Given the description of an element on the screen output the (x, y) to click on. 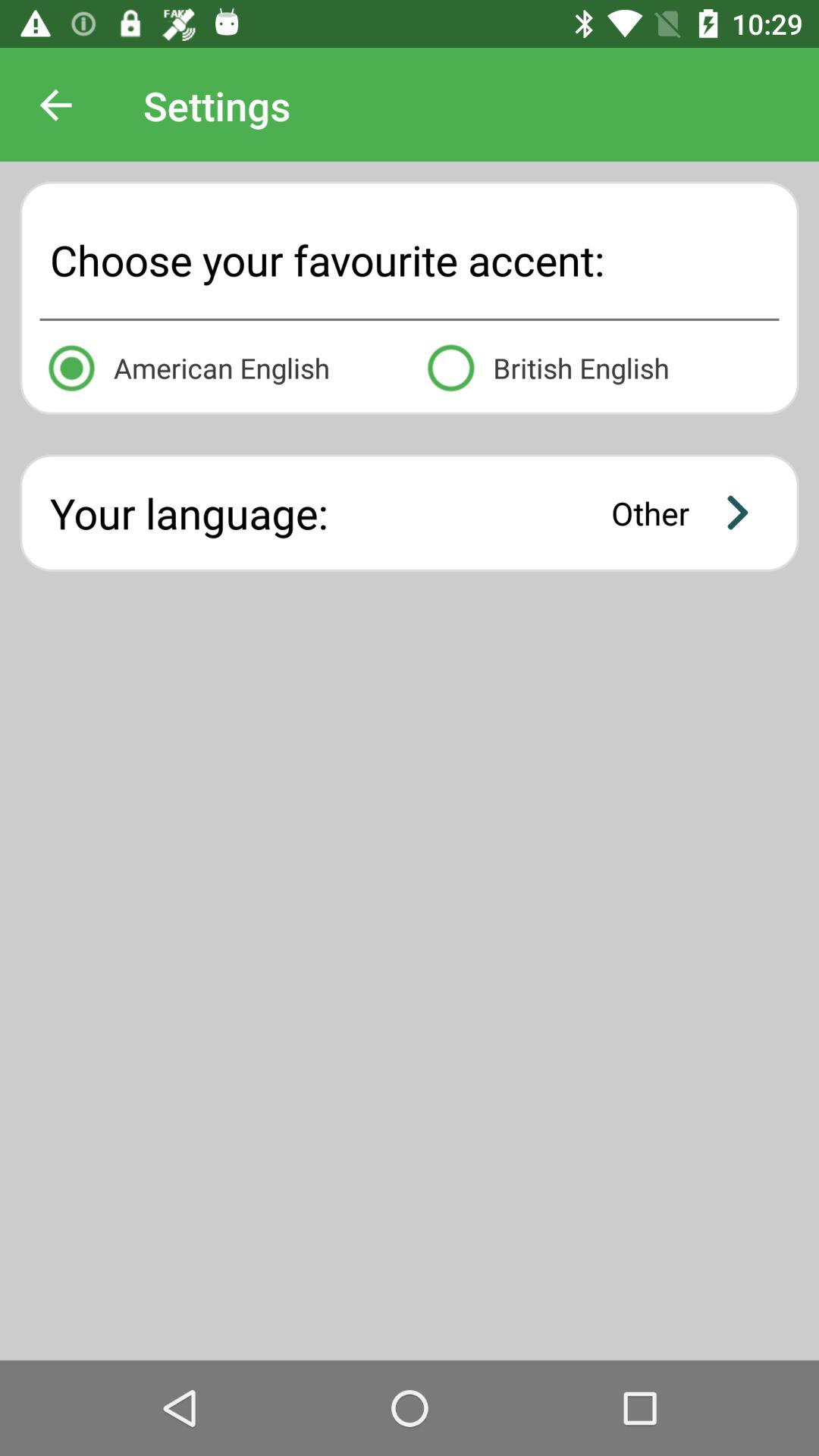
turn on british english (599, 365)
